Given the description of an element on the screen output the (x, y) to click on. 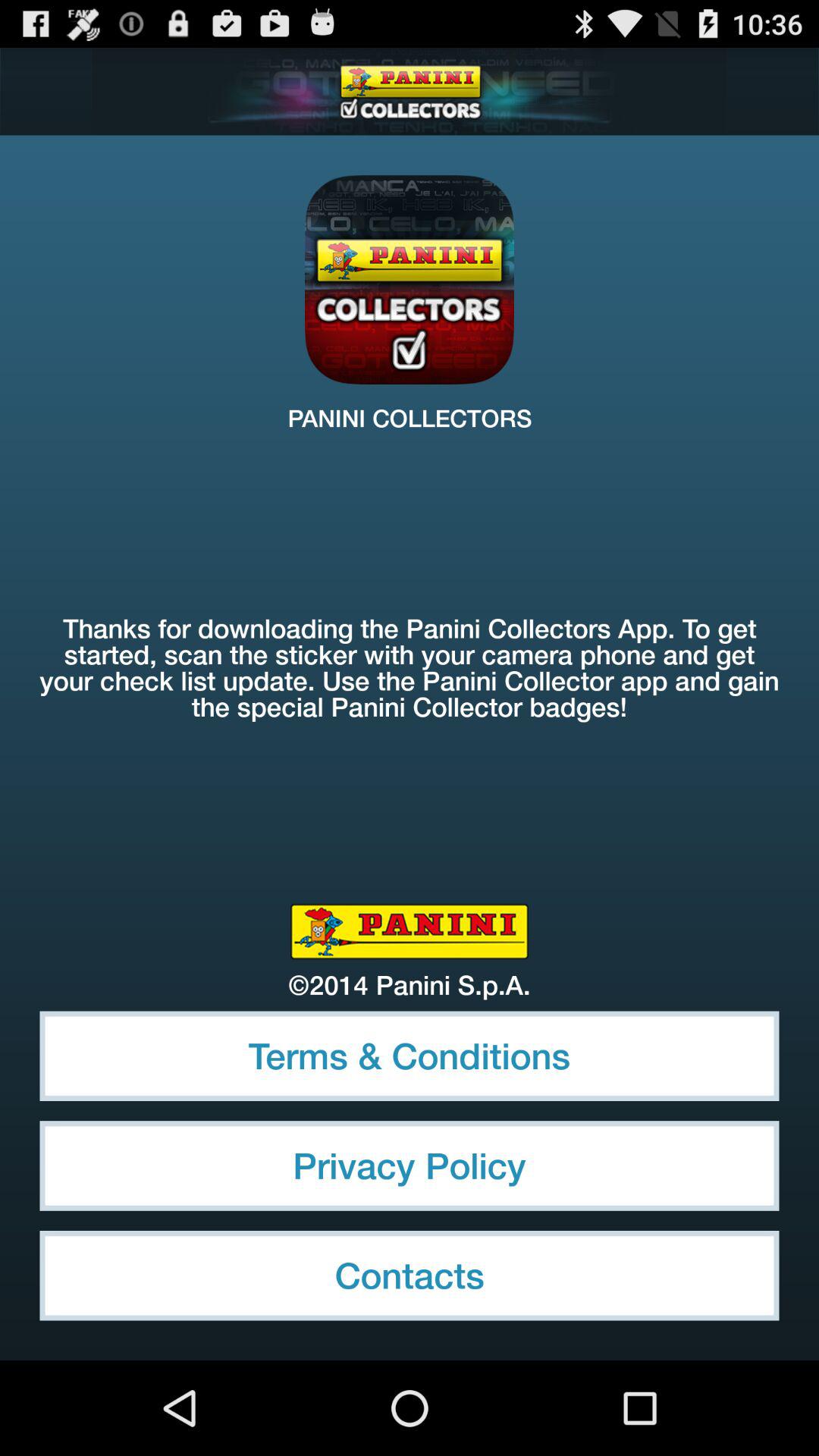
press the privacy policy item (409, 1165)
